Given the description of an element on the screen output the (x, y) to click on. 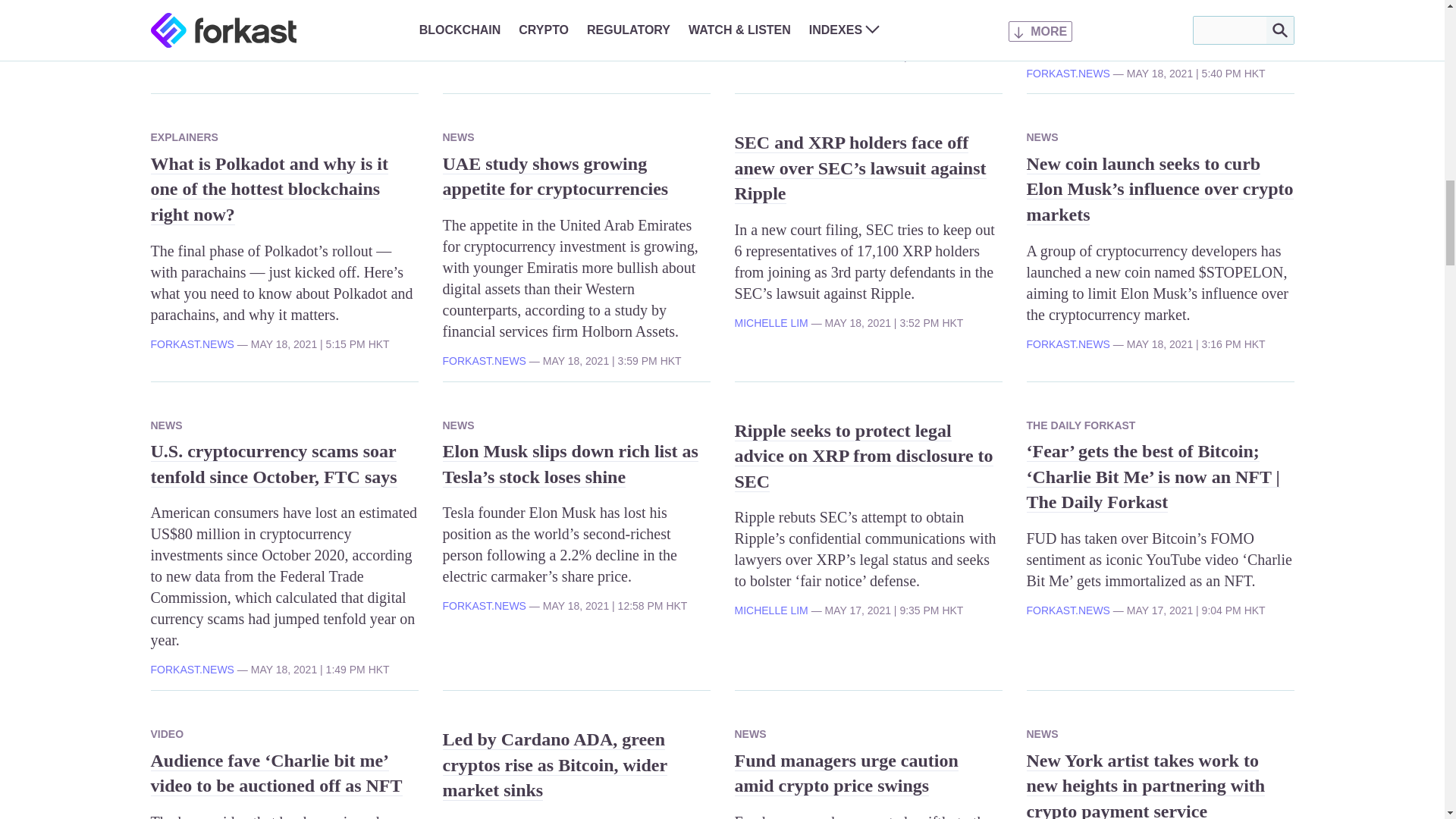
Posts by Forkast.News (774, 55)
Posts by Forkast.News (1067, 73)
Posts by Forkast.News (190, 344)
Posts by Kelly Le (466, 9)
Posts by Forkast.News (483, 360)
Posts by Michelle Lim (186, 9)
